Given the description of an element on the screen output the (x, y) to click on. 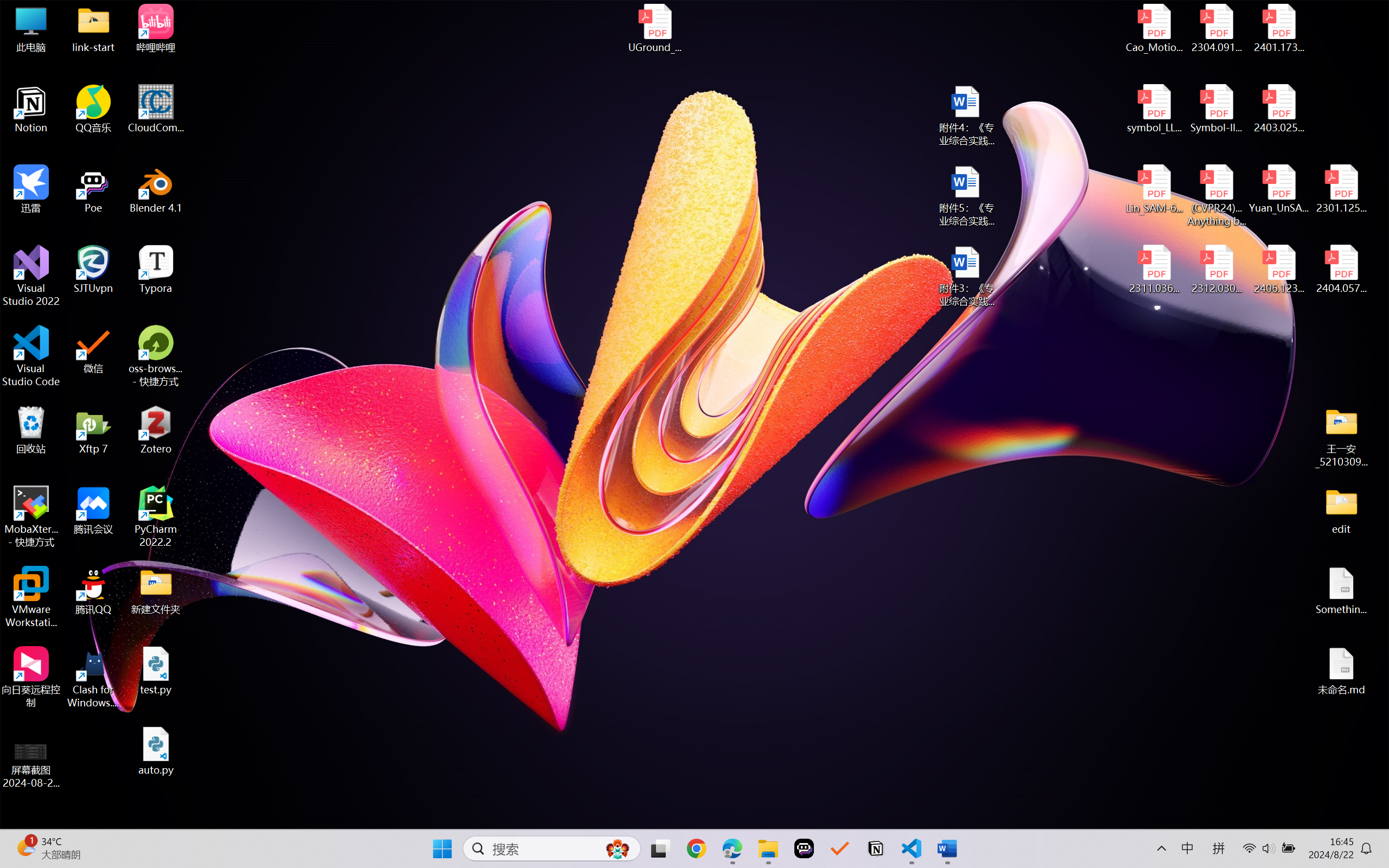
Google Chrome (696, 848)
Something.md (1340, 591)
Symbol-llm-v2.pdf (1216, 109)
CloudCompare (156, 109)
2304.09121v3.pdf (1216, 28)
